Given the description of an element on the screen output the (x, y) to click on. 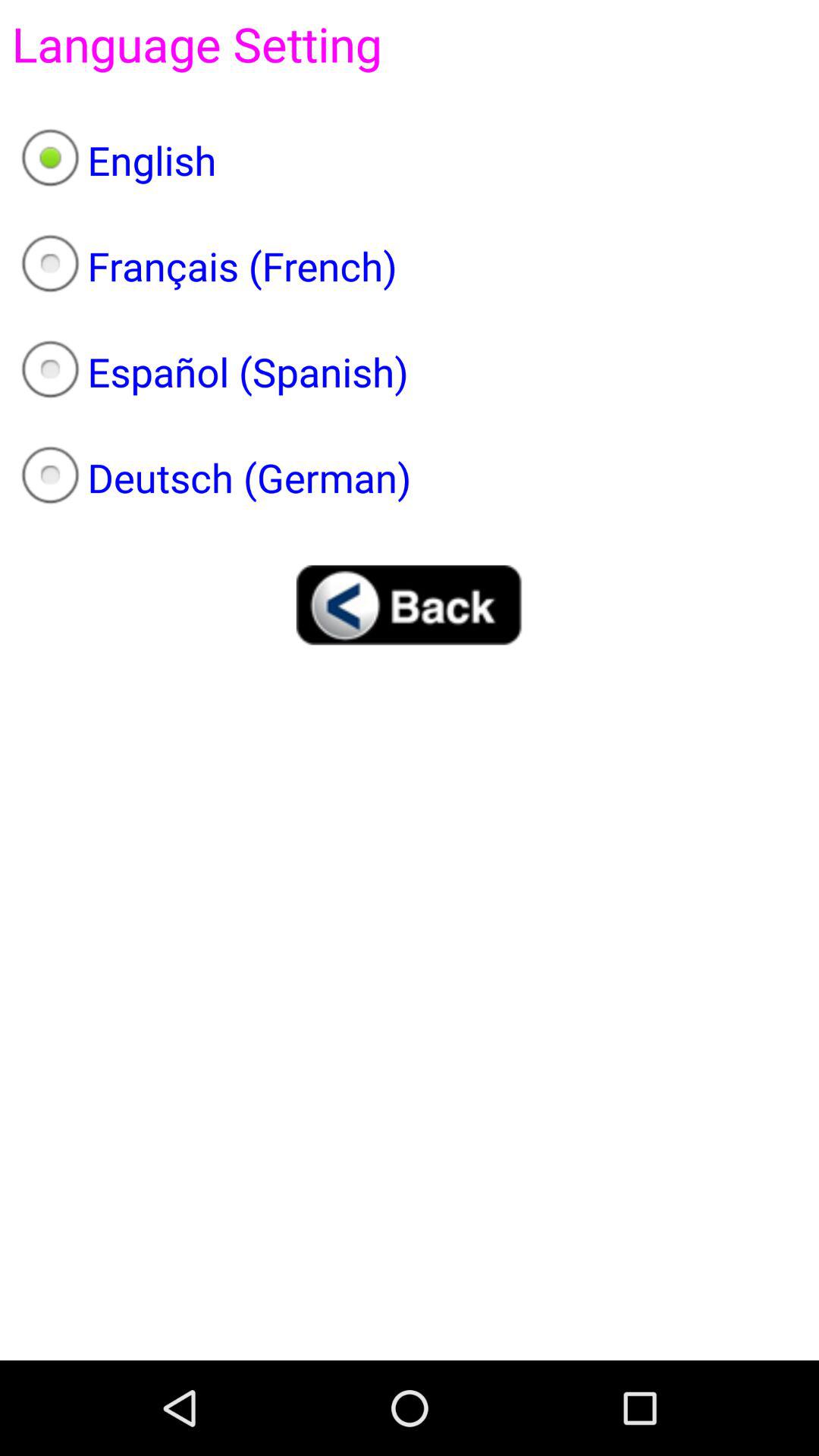
turn off the radio button below the english radio button (409, 265)
